Given the description of an element on the screen output the (x, y) to click on. 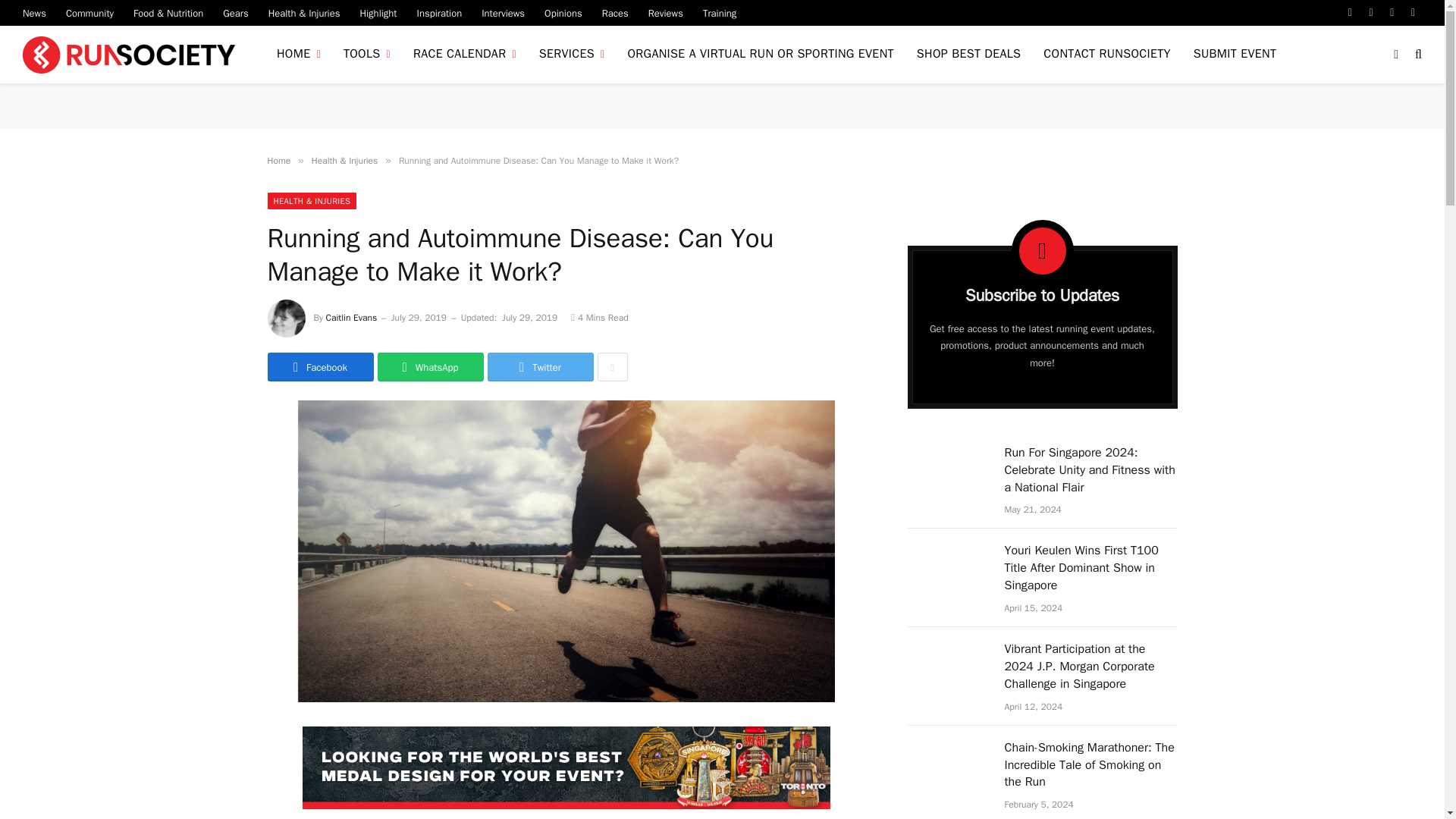
Share on Facebook (319, 366)
Share on WhatsApp (430, 366)
Switch to Dark Design - easier on eyes. (1396, 54)
Posts by Caitlin Evans (351, 317)
